Given the description of an element on the screen output the (x, y) to click on. 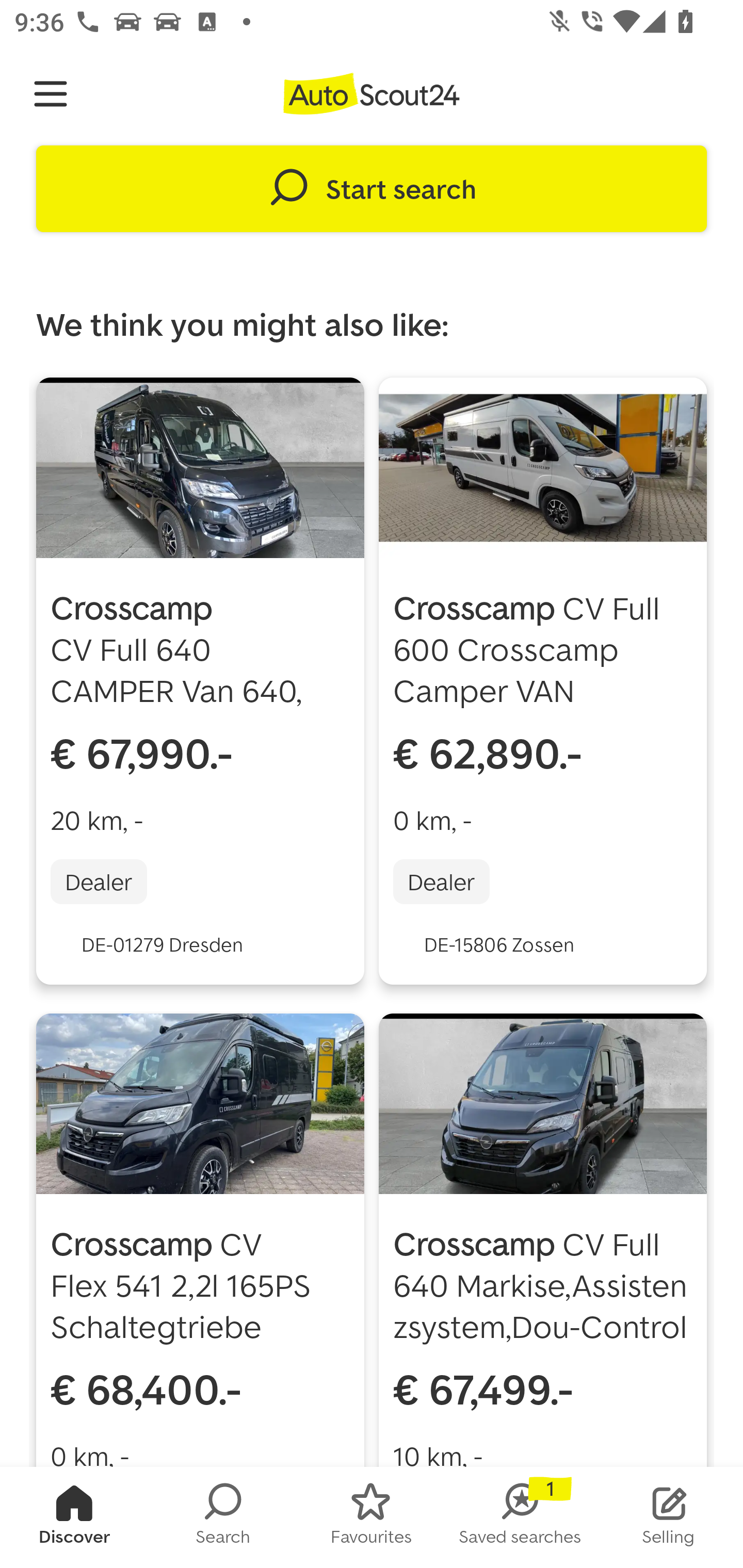
Navigate up (50, 93)
Start search (371, 188)
HOMESCREEN Discover (74, 1517)
SEARCH Search (222, 1517)
FAVORITES Favourites (371, 1517)
SAVED_SEARCHES Saved searches 1 (519, 1517)
STOCK_LIST Selling (668, 1517)
